Given the description of an element on the screen output the (x, y) to click on. 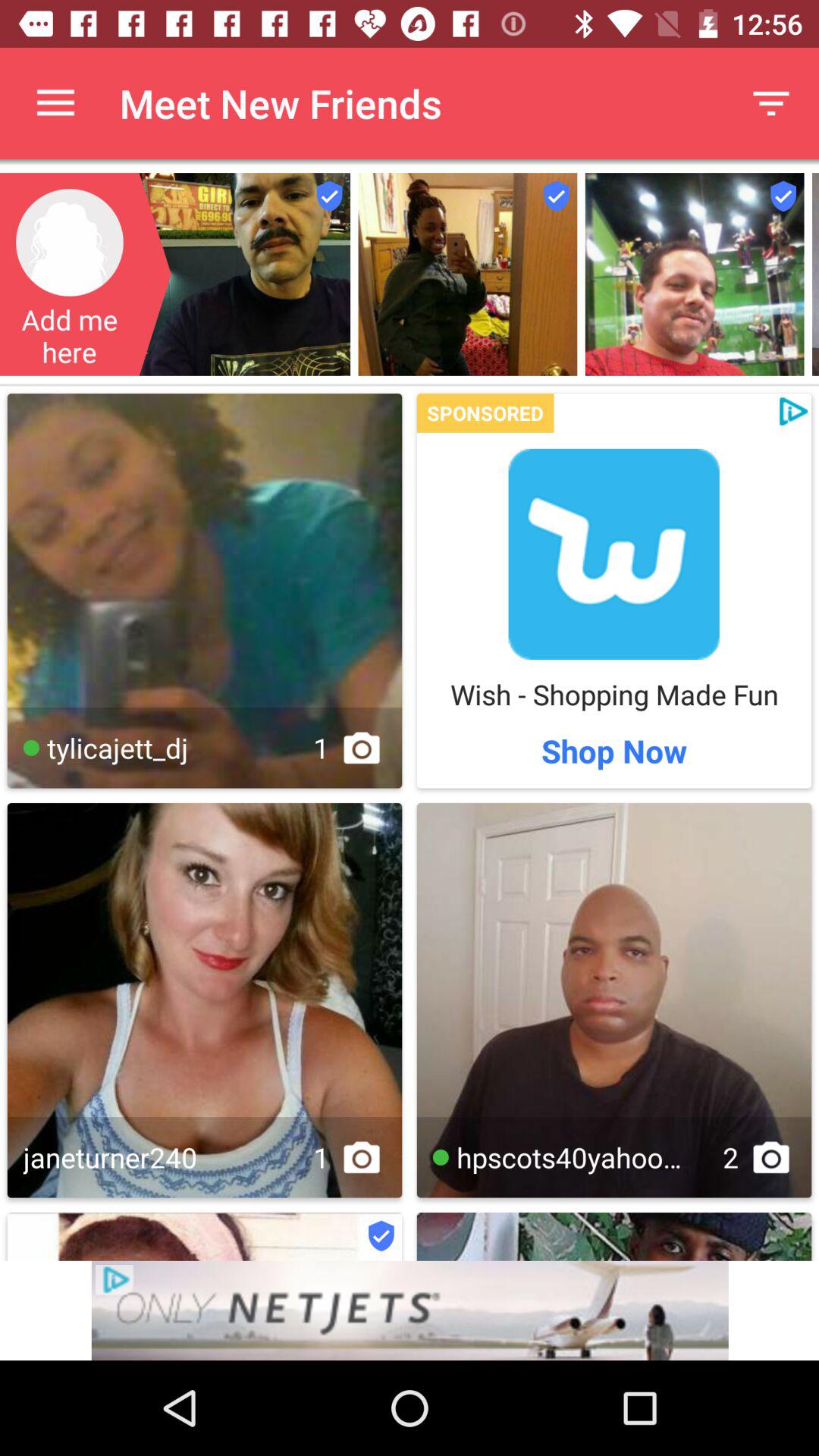
details about advertisement (409, 1310)
